Given the description of an element on the screen output the (x, y) to click on. 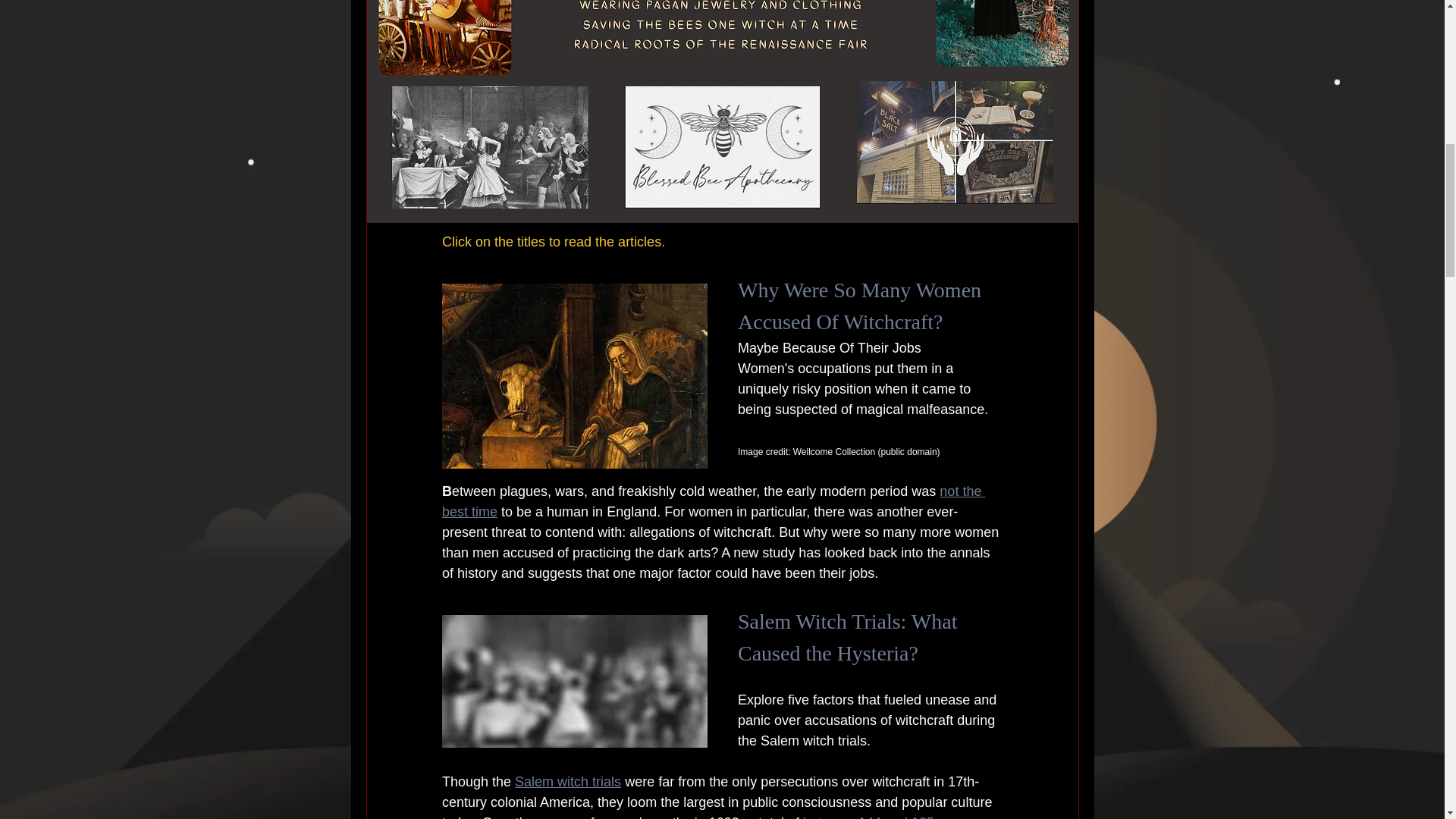
Salem Witch Trials: What Caused the Hysteria? (849, 637)
Salem witch trials (568, 781)
between 144 and 185 (867, 816)
Why Were So Many Women Accused Of Witchcraft?  (860, 305)
not the best time (712, 501)
